Given the description of an element on the screen output the (x, y) to click on. 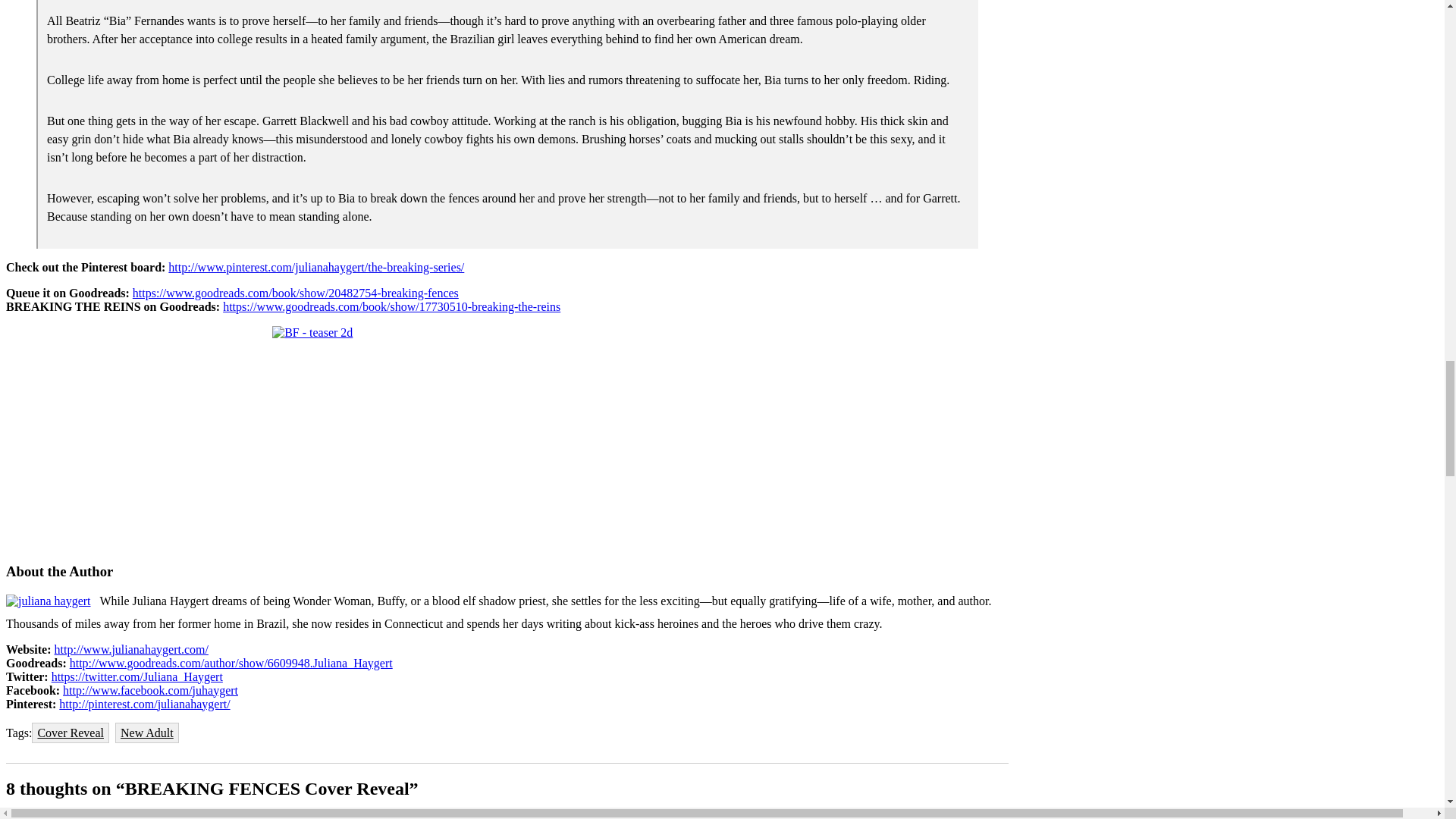
New Adult (147, 732)
Cover Reveal (70, 732)
